Given the description of an element on the screen output the (x, y) to click on. 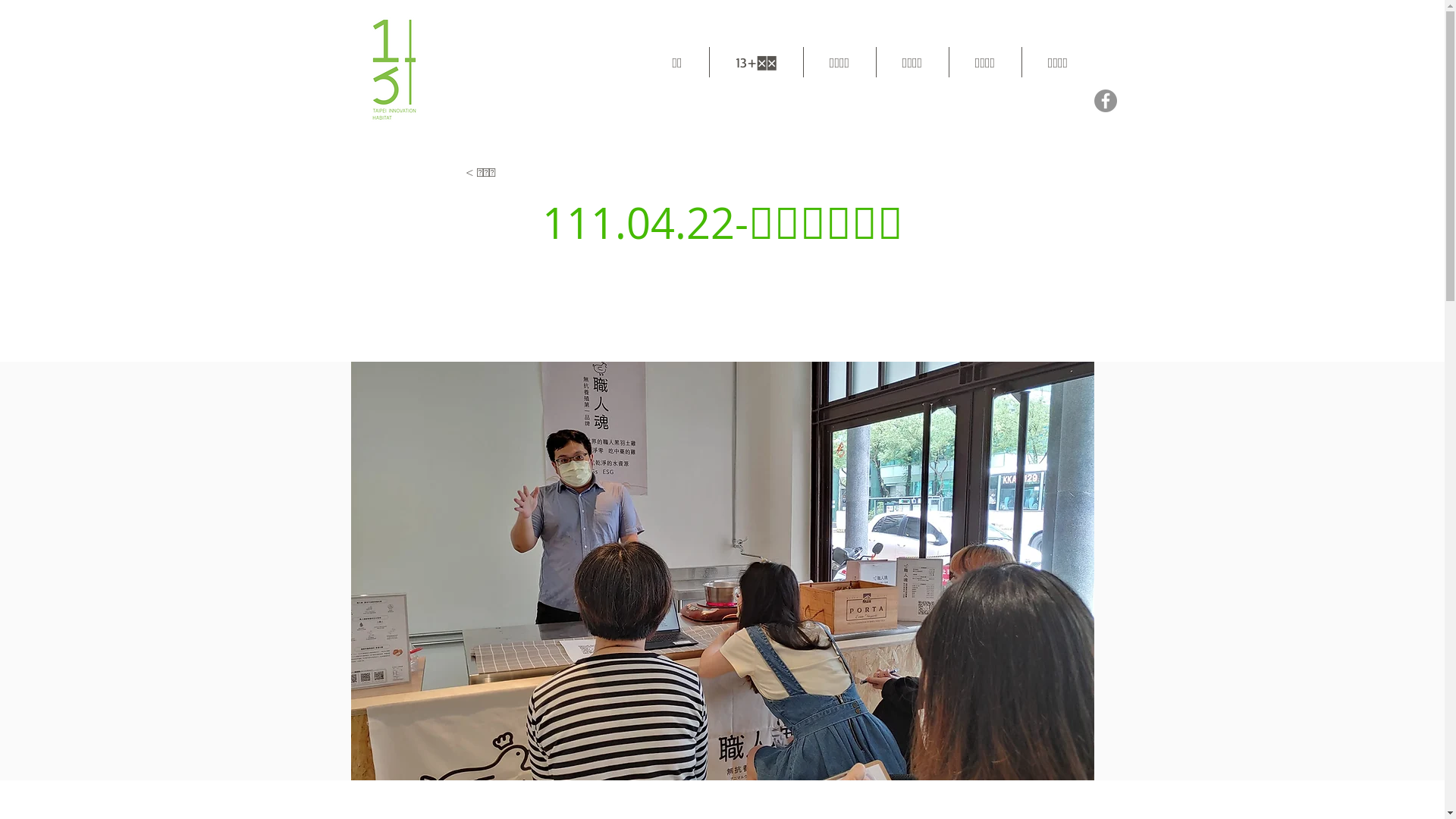
283818379_784325216347431_2061967103289417518_n.jpeg Element type: hover (721, 570)
